Given the description of an element on the screen output the (x, y) to click on. 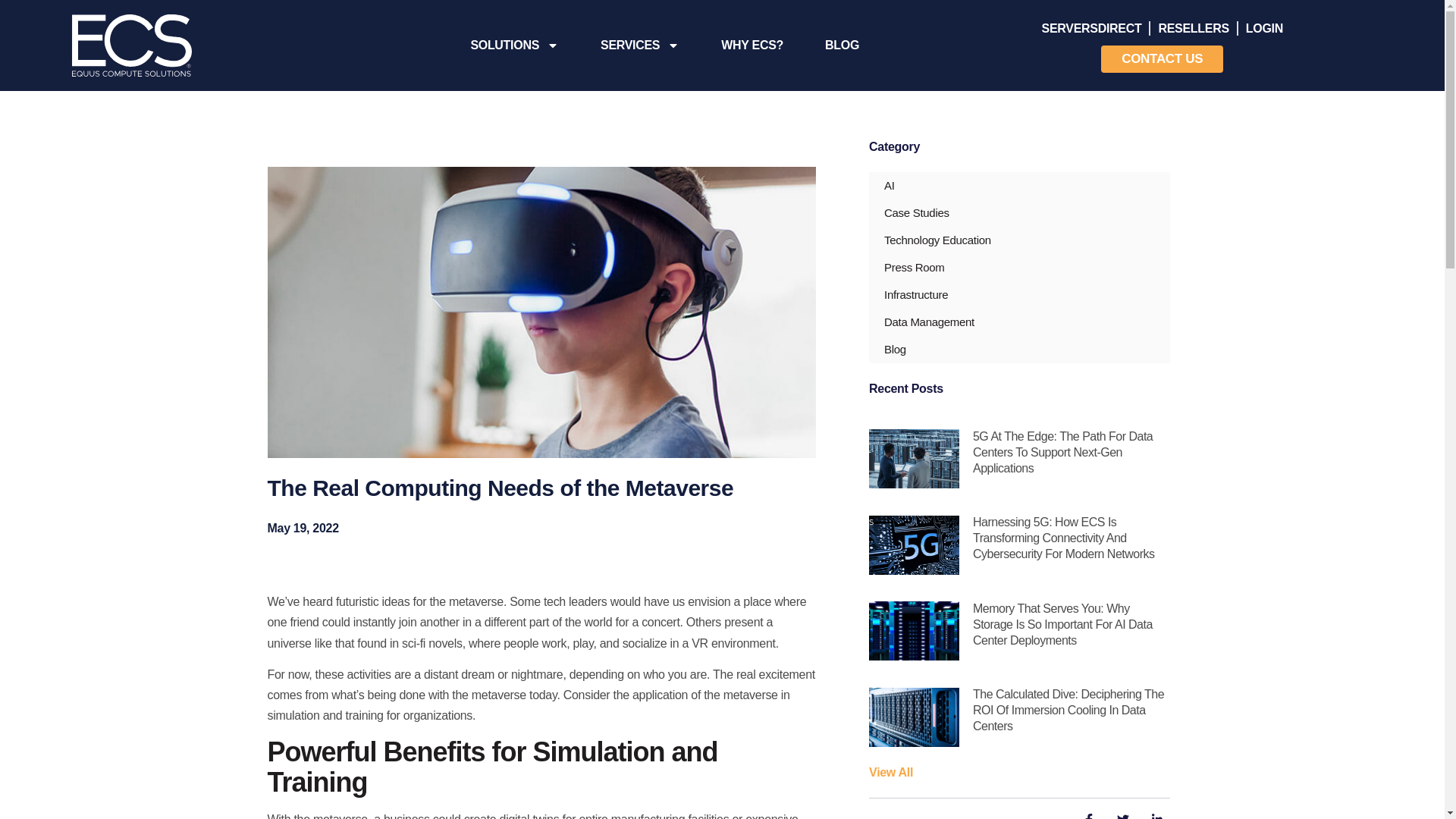
SOLUTIONS (513, 45)
ecs-white (131, 45)
SERVICES (639, 45)
BLOG (842, 45)
WHY ECS? (751, 45)
